Given the description of an element on the screen output the (x, y) to click on. 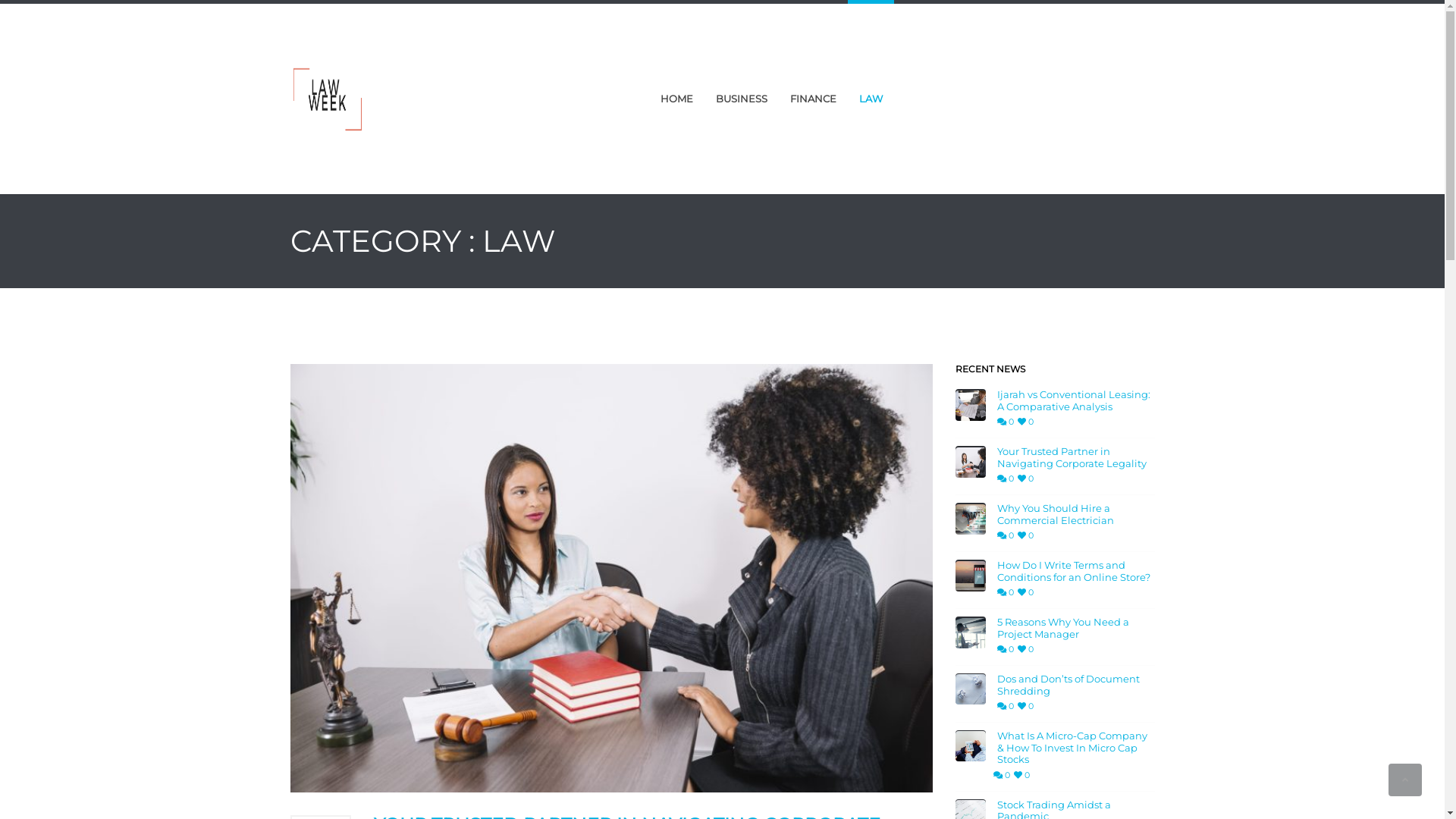
How Do I Write Terms and Conditions for an Online Store? Element type: text (1075, 571)
0 Element type: text (1001, 775)
Why You Should Hire a Commercial Electrician Element type: text (1075, 514)
0 Element type: text (1005, 706)
5 Reasons Why You Need a Project Manager Element type: text (1075, 628)
0 Element type: text (1005, 592)
0 Element type: text (1025, 706)
0 Element type: text (1025, 478)
HOME Element type: text (676, 98)
0 Element type: text (1005, 478)
Your Trusted Partner in Navigating Corporate Legality Element type: text (1075, 457)
0 Element type: text (1005, 535)
0 Element type: text (1005, 421)
0 Element type: text (1025, 535)
0 Element type: text (1005, 649)
BUSINESS Element type: text (741, 98)
0 Element type: text (1021, 775)
Ijarah vs Conventional Leasing: A Comparative Analysis Element type: text (1075, 400)
LAW Element type: text (870, 98)
0 Element type: text (1025, 421)
0 Element type: text (1025, 592)
0 Element type: text (1025, 649)
FINANCE Element type: text (812, 98)
